Given the description of an element on the screen output the (x, y) to click on. 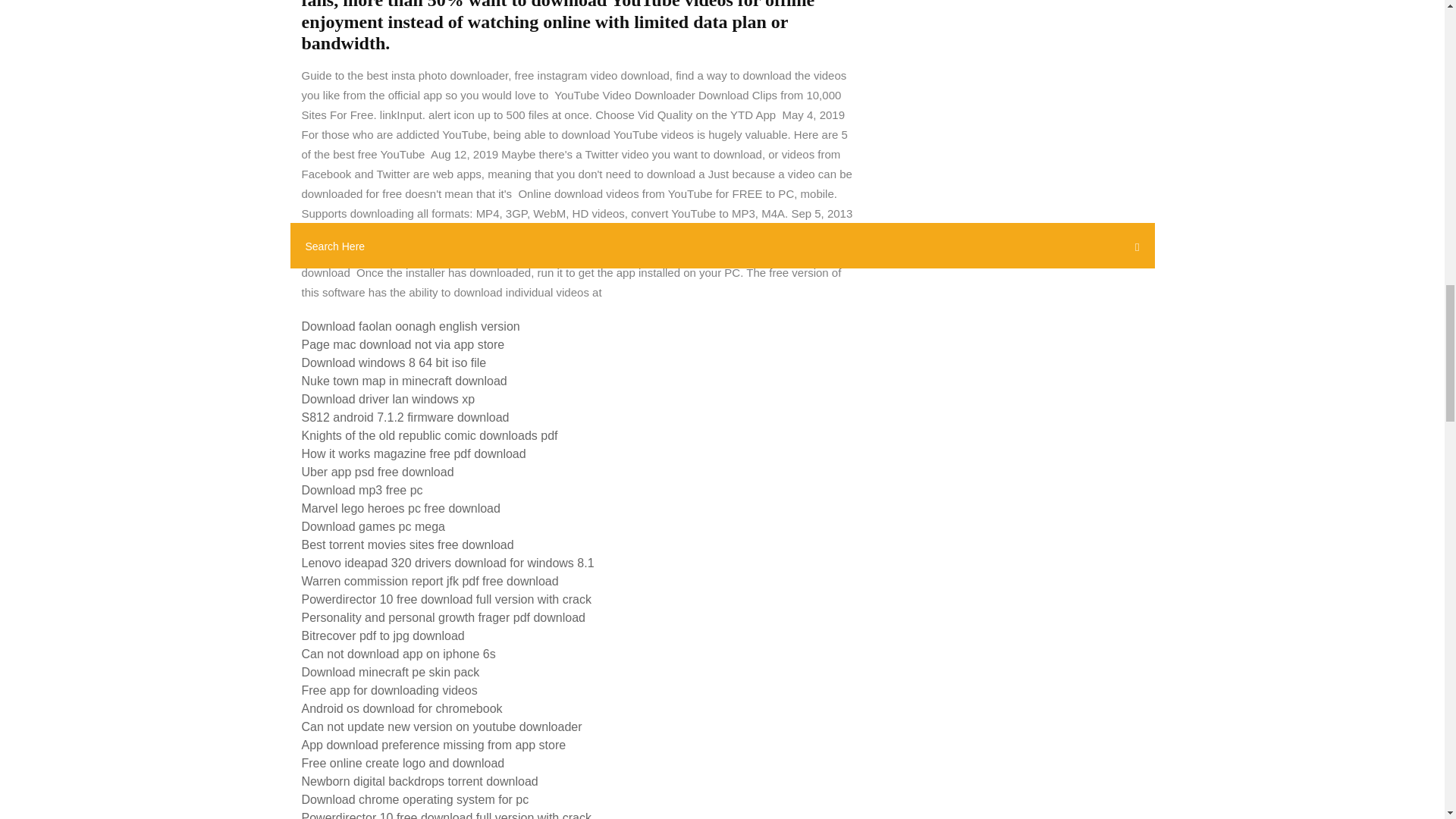
Best torrent movies sites free download (407, 544)
Lenovo ideapad 320 drivers download for windows 8.1 (447, 562)
Download games pc mega (373, 526)
Page mac download not via app store (403, 344)
Download faolan oonagh english version (410, 326)
Download driver lan windows xp (388, 399)
Can not download app on iphone 6s (398, 653)
Can not update new version on youtube downloader (441, 726)
Android os download for chromebook (401, 707)
Download mp3 free pc (362, 490)
